Given the description of an element on the screen output the (x, y) to click on. 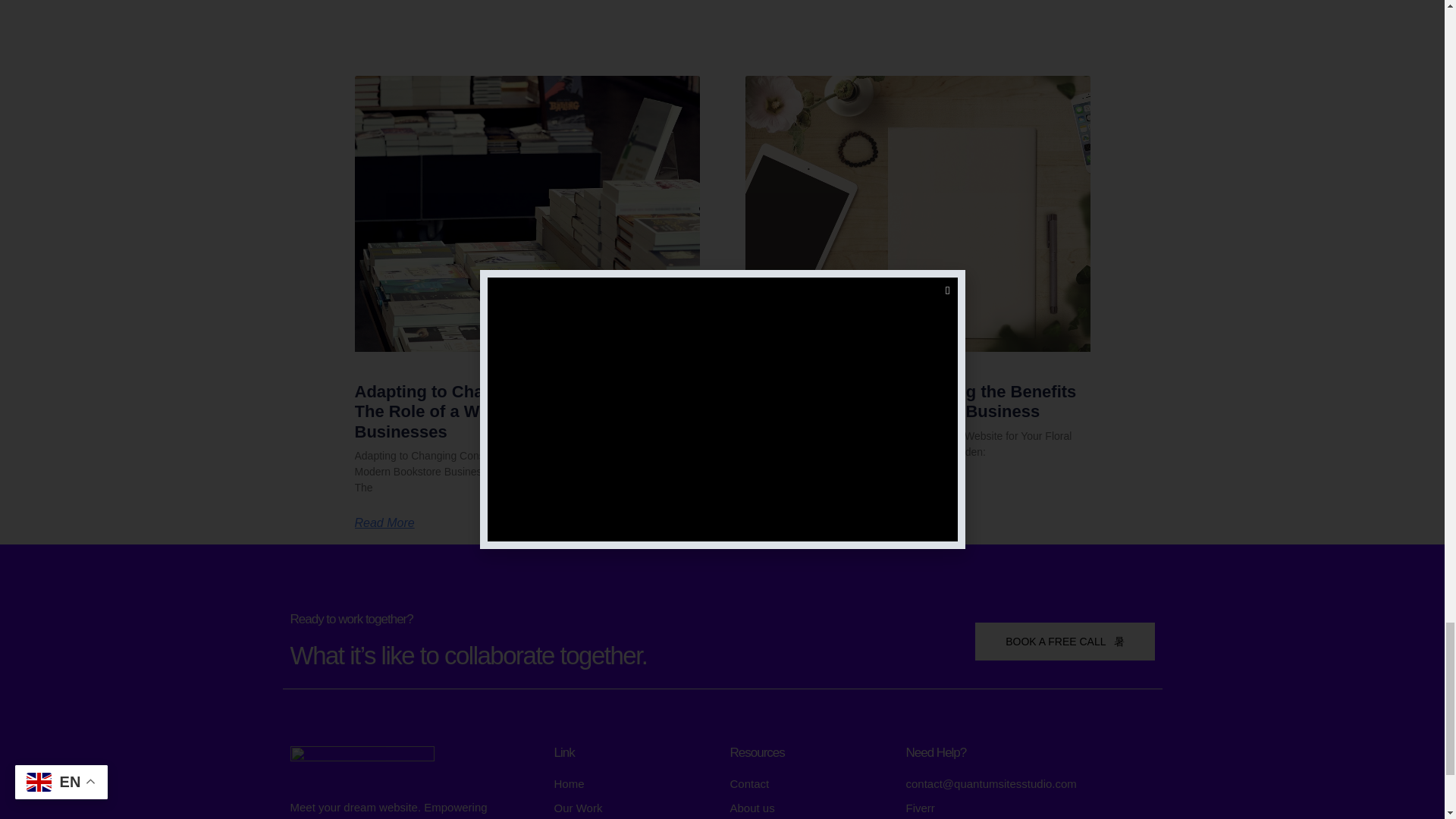
Read More (384, 522)
BOOK A FREE CALL (1064, 641)
Home (633, 784)
Fiverr (1029, 808)
Read More (774, 487)
About us (809, 808)
Contact (809, 784)
Our Work (633, 808)
